Given the description of an element on the screen output the (x, y) to click on. 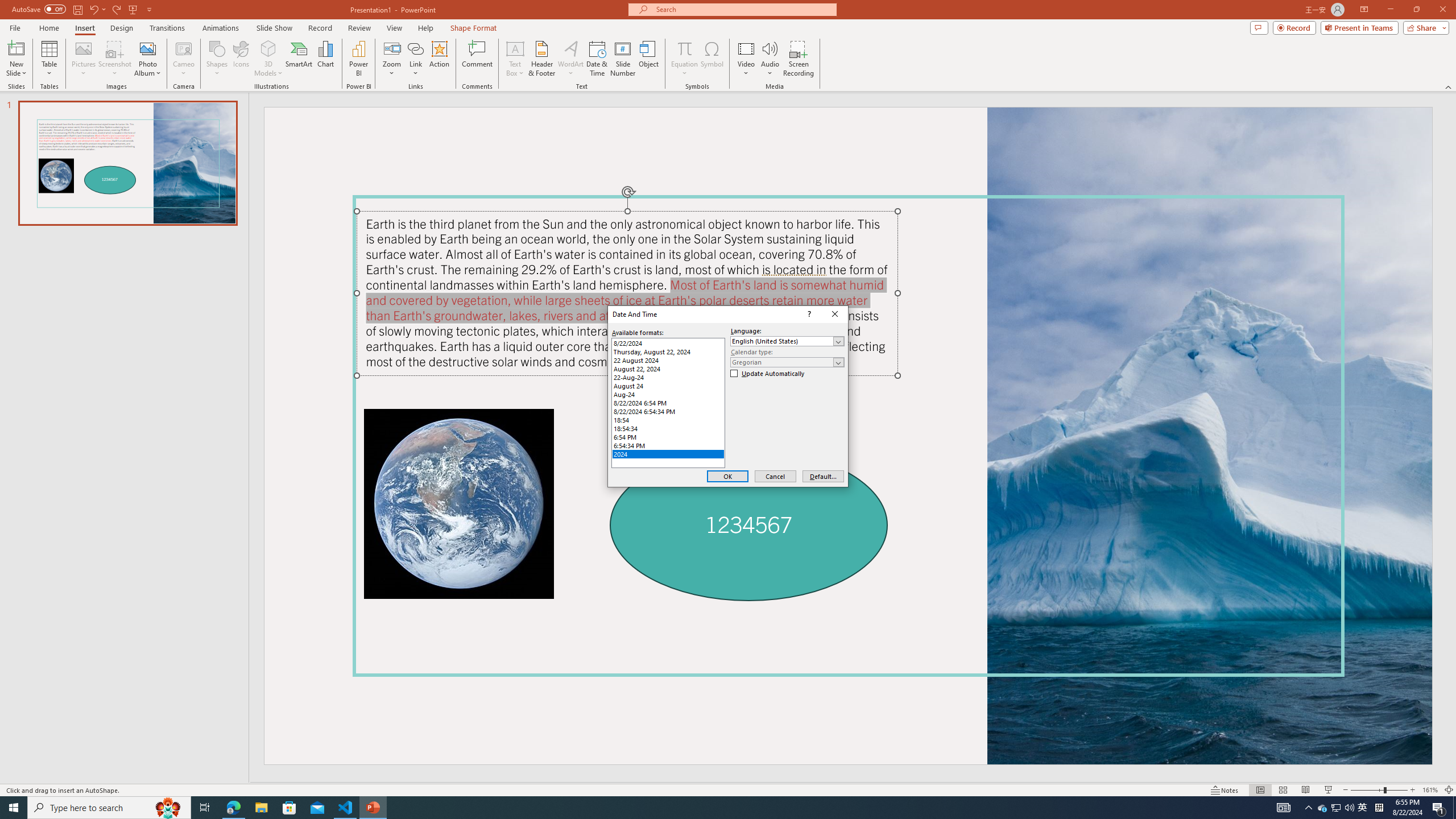
Visual Studio Code - 1 running window (345, 807)
Zoom Out (1367, 790)
Draw Horizontal Text Box (515, 48)
Table (49, 58)
Date & Time... (596, 58)
Close (834, 314)
New Slide (16, 48)
18:54 (667, 420)
File Tab (15, 27)
New Photo Album... (147, 48)
Default... (823, 476)
Normal (1260, 790)
Review (359, 28)
Redo (117, 9)
